Given the description of an element on the screen output the (x, y) to click on. 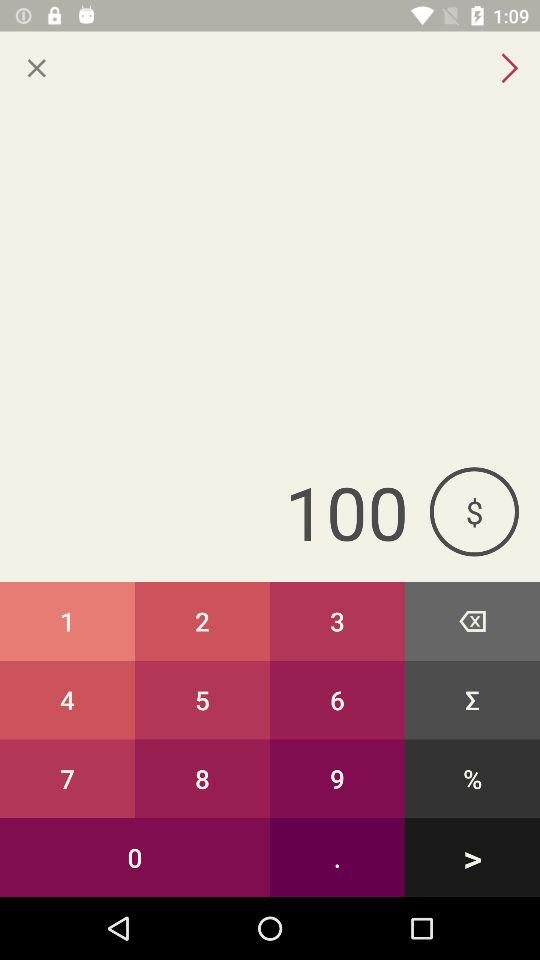
close the app (36, 68)
